Given the description of an element on the screen output the (x, y) to click on. 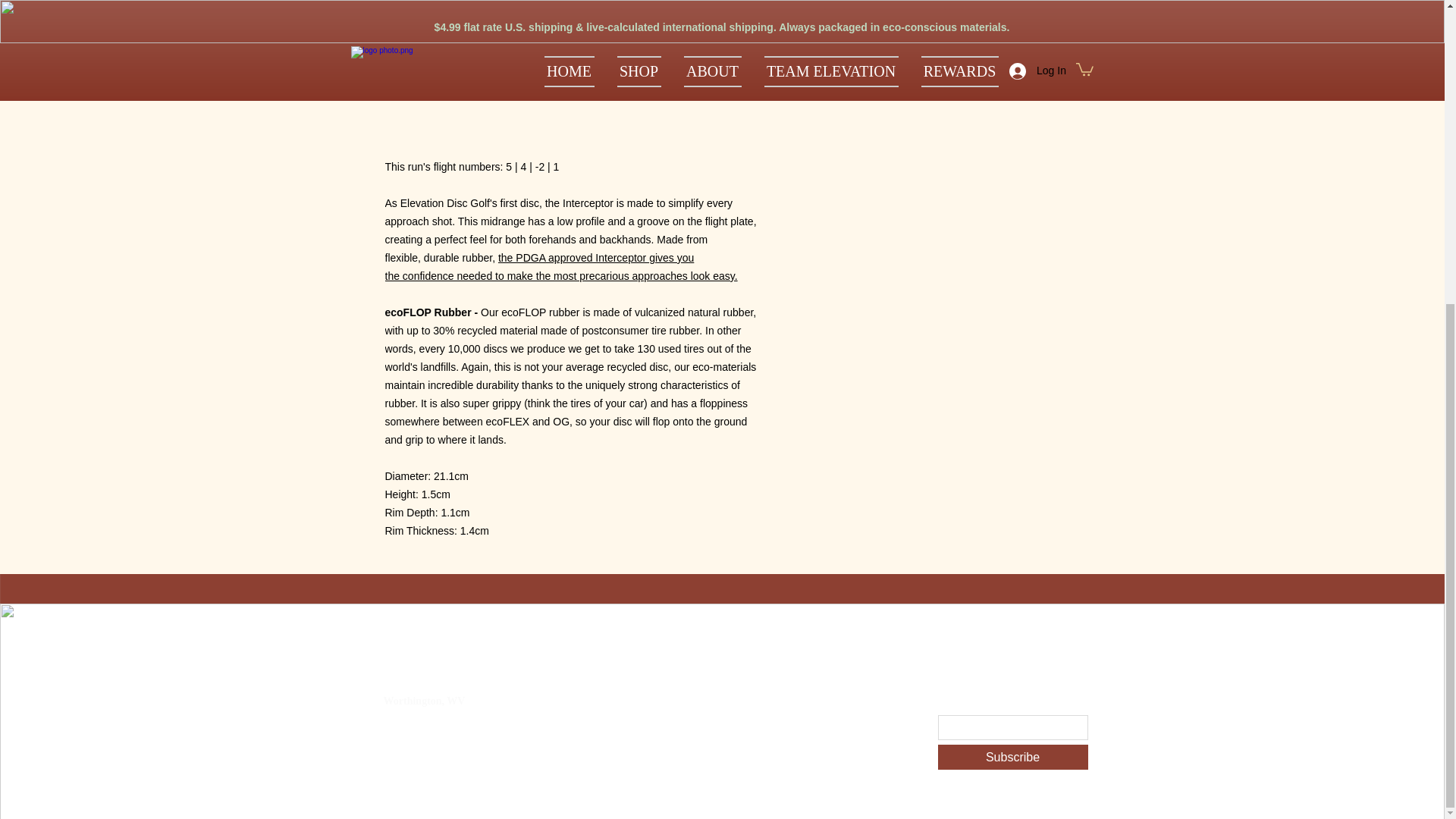
Shop (586, 686)
YouTube (858, 687)
Contact (722, 686)
Instagram (858, 725)
About (586, 725)
Elevation Disc Golf LLC (423, 667)
Buy Now (924, 5)
Subscribe (1012, 756)
Facebook (858, 767)
